Given the description of an element on the screen output the (x, y) to click on. 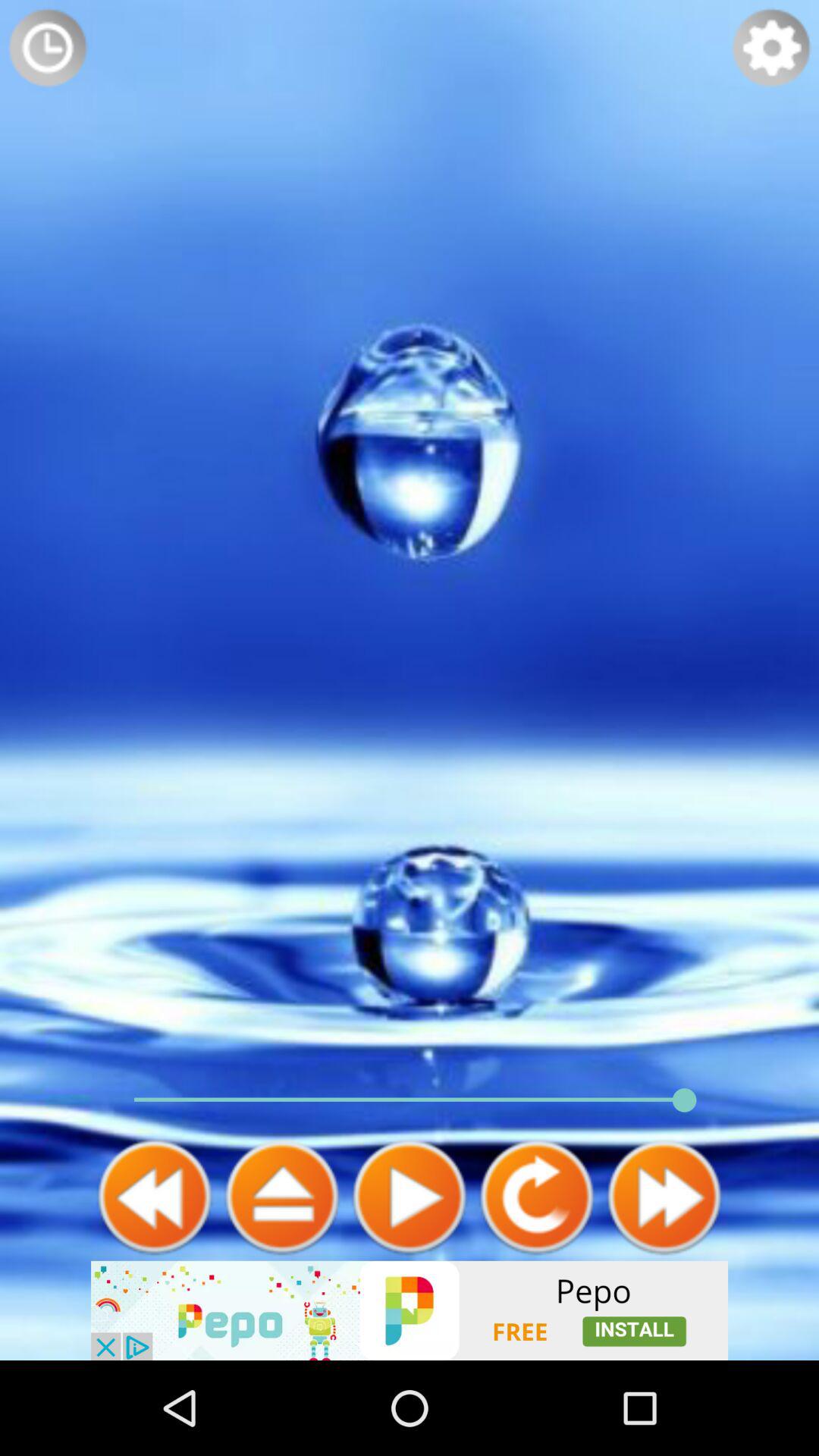
settings (771, 47)
